Given the description of an element on the screen output the (x, y) to click on. 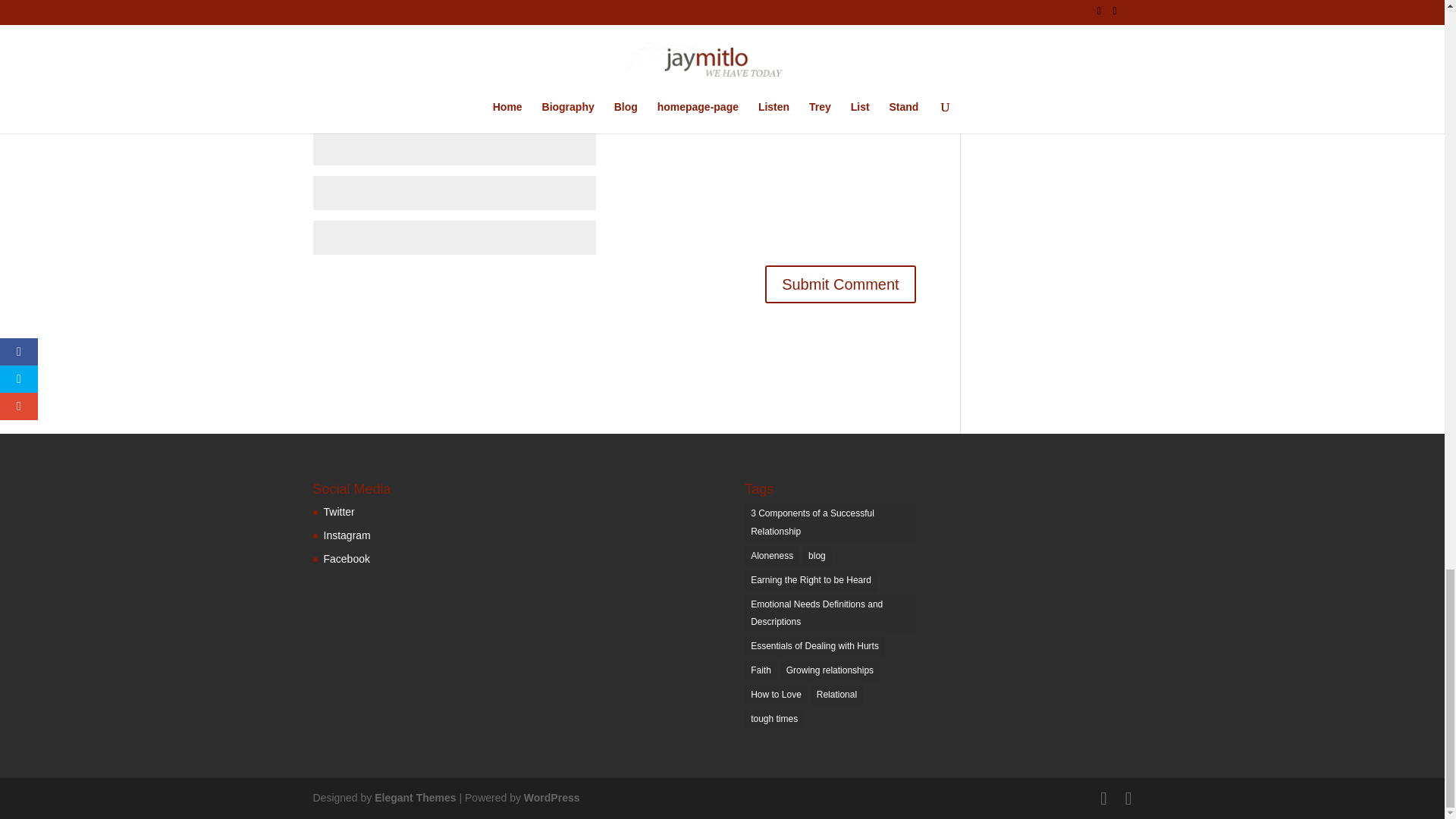
Aloneness (771, 556)
Submit Comment (840, 284)
Instagram (346, 535)
Facebook (346, 558)
blog (816, 556)
Essentials of Dealing with Hurts (814, 646)
Premium WordPress Themes (414, 797)
Submit Comment (840, 284)
Emotional Needs Definitions and Descriptions (829, 613)
3 Components of a Successful Relationship (829, 522)
